Given the description of an element on the screen output the (x, y) to click on. 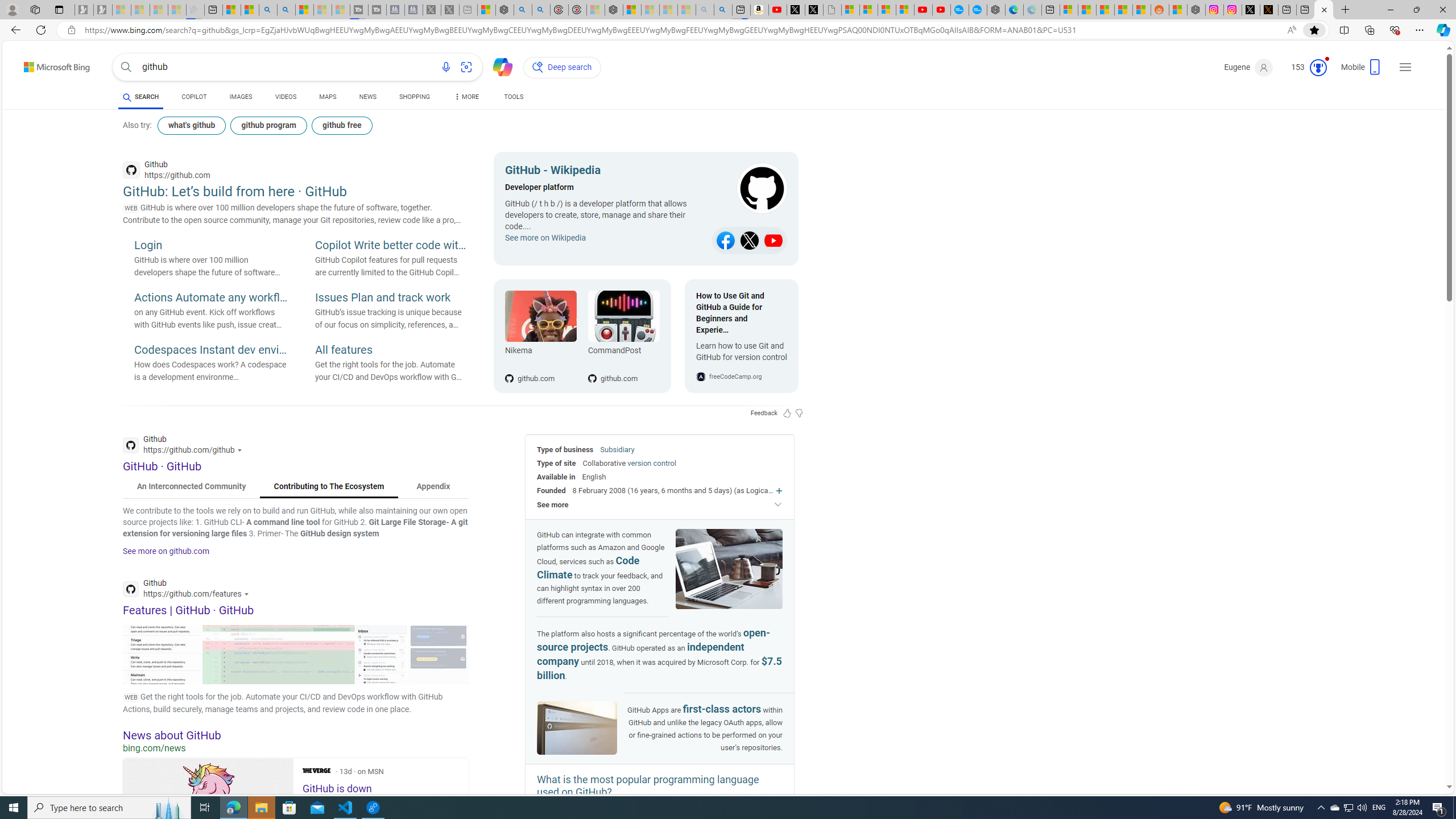
Search button (126, 66)
Chat (497, 65)
Nikema Nikema github.com (540, 335)
Image of GitHub (577, 728)
github program (269, 125)
Microsoft Rewards 153 (1304, 67)
TOOLS (512, 96)
